Given the description of an element on the screen output the (x, y) to click on. 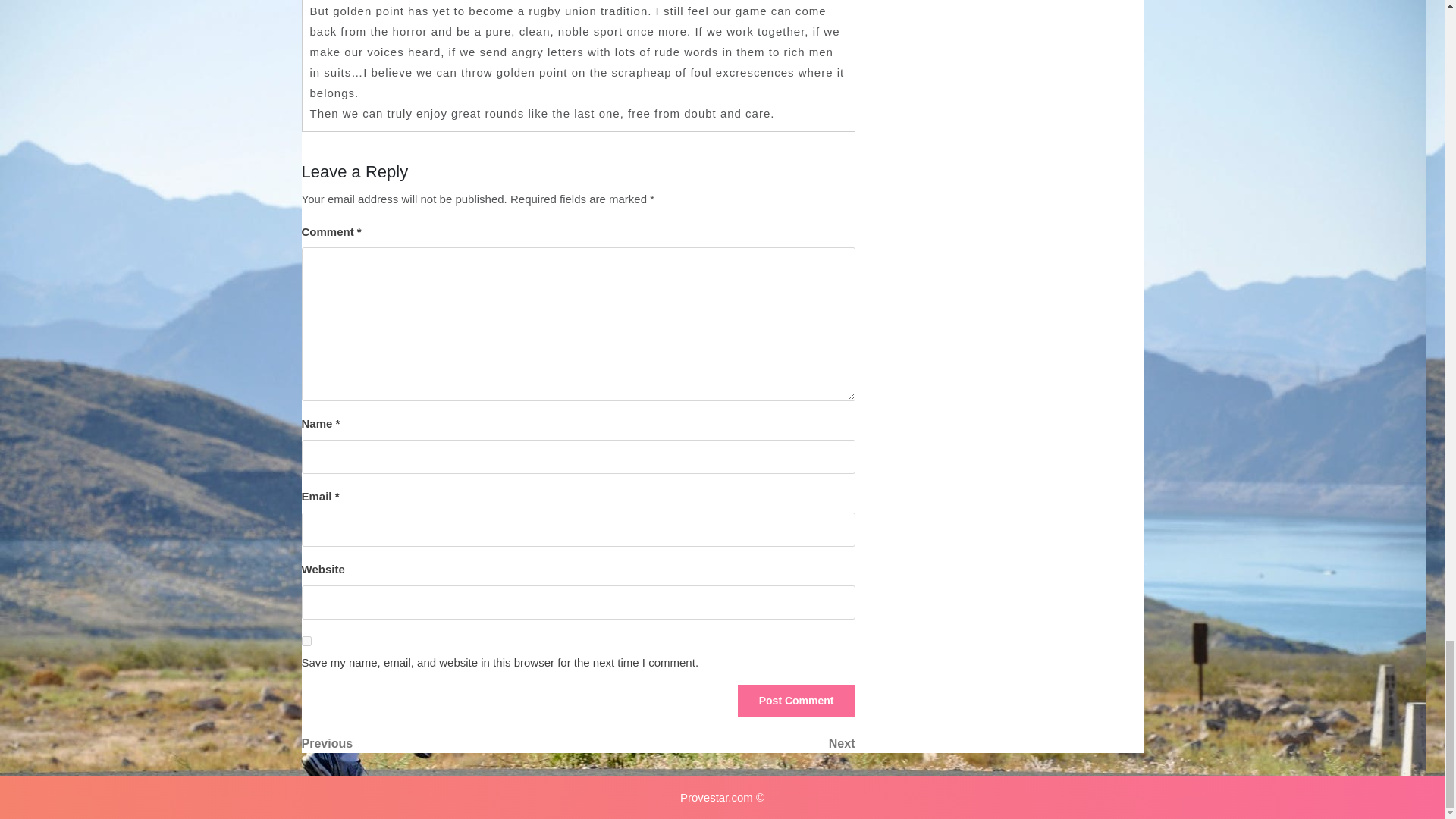
yes (306, 641)
Post Comment (716, 743)
Post Comment (439, 743)
